Given the description of an element on the screen output the (x, y) to click on. 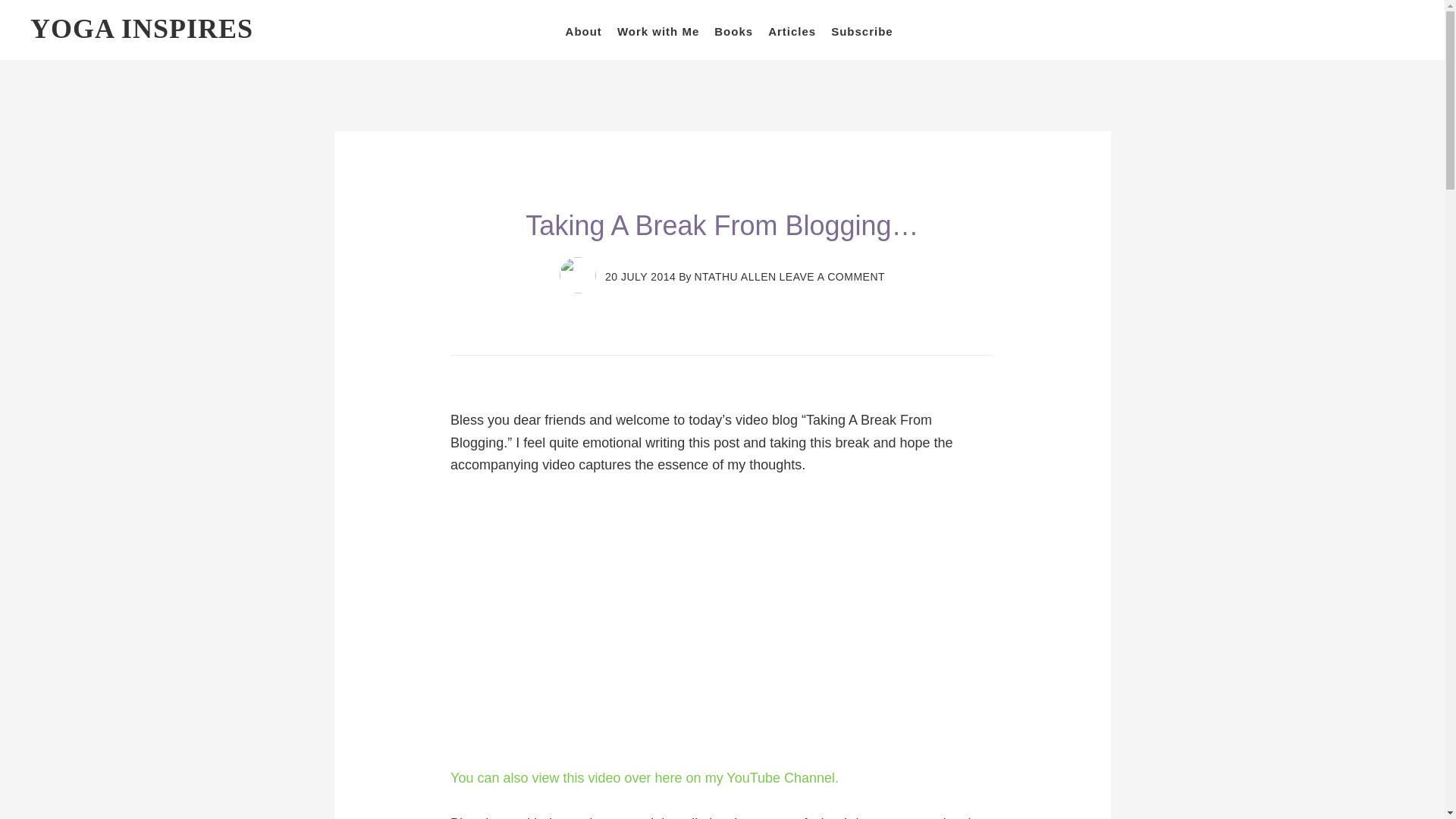
Books (733, 31)
YOGA INSPIRES (141, 28)
About (583, 31)
Articles (792, 31)
LEAVE A COMMENT (831, 276)
NTATHU ALLEN (735, 276)
Ntathu's Yoga Channel Taking A Break From Blogging (643, 777)
Work with Me (658, 31)
Subscribe (862, 31)
